Given the description of an element on the screen output the (x, y) to click on. 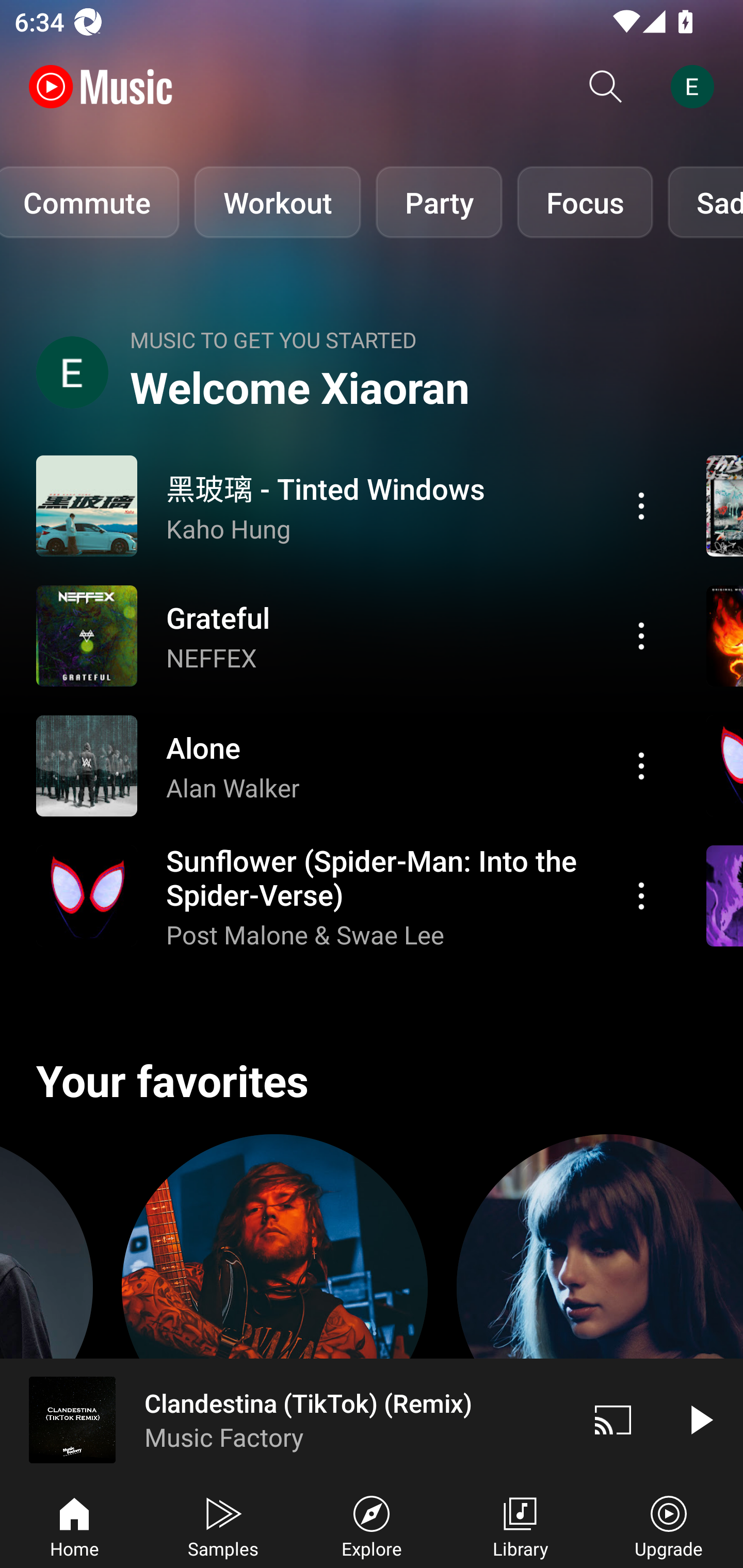
Search (605, 86)
Account (696, 86)
Action menu (349, 505)
Action menu (641, 505)
Action menu (349, 635)
Action menu (641, 635)
Action menu (349, 765)
Action menu (641, 765)
Action menu (349, 896)
Action menu (641, 896)
Clandestina (TikTok) (Remix) Music Factory (284, 1419)
Cast. Disconnected (612, 1419)
Play video (699, 1419)
Home (74, 1524)
Samples (222, 1524)
Explore (371, 1524)
Library (519, 1524)
Upgrade (668, 1524)
